Given the description of an element on the screen output the (x, y) to click on. 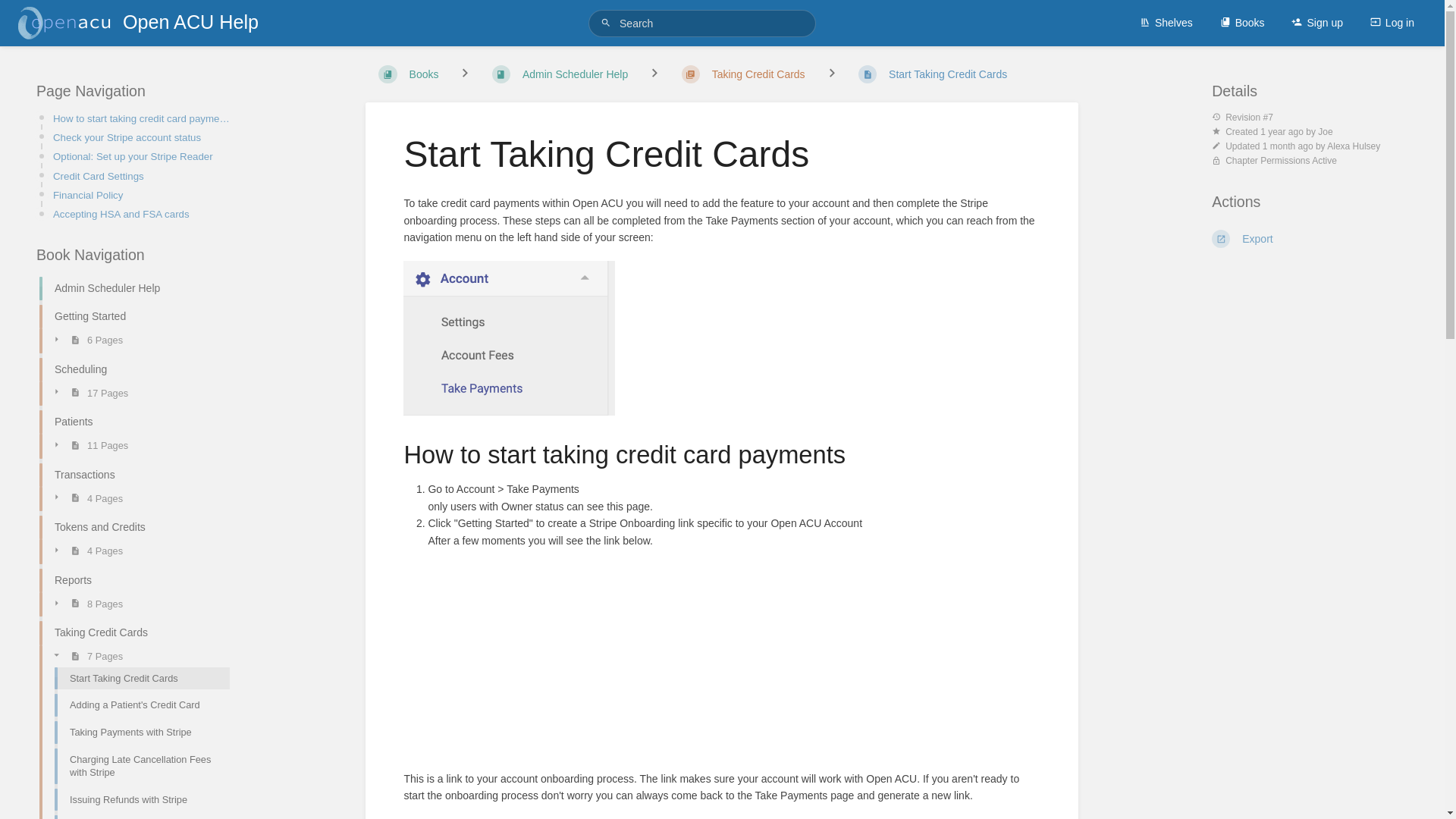
Accepting HSA and FSA cards (142, 213)
Open ACU Help (146, 23)
Credit Card Settings (142, 176)
Scheduling (134, 369)
Books (1242, 22)
Admin Scheduler Help (134, 288)
17 Pages (87, 392)
6 Pages (85, 339)
Log in (1392, 22)
Thu, Sep 15, 2022 2:20 PM (1281, 131)
